Given the description of an element on the screen output the (x, y) to click on. 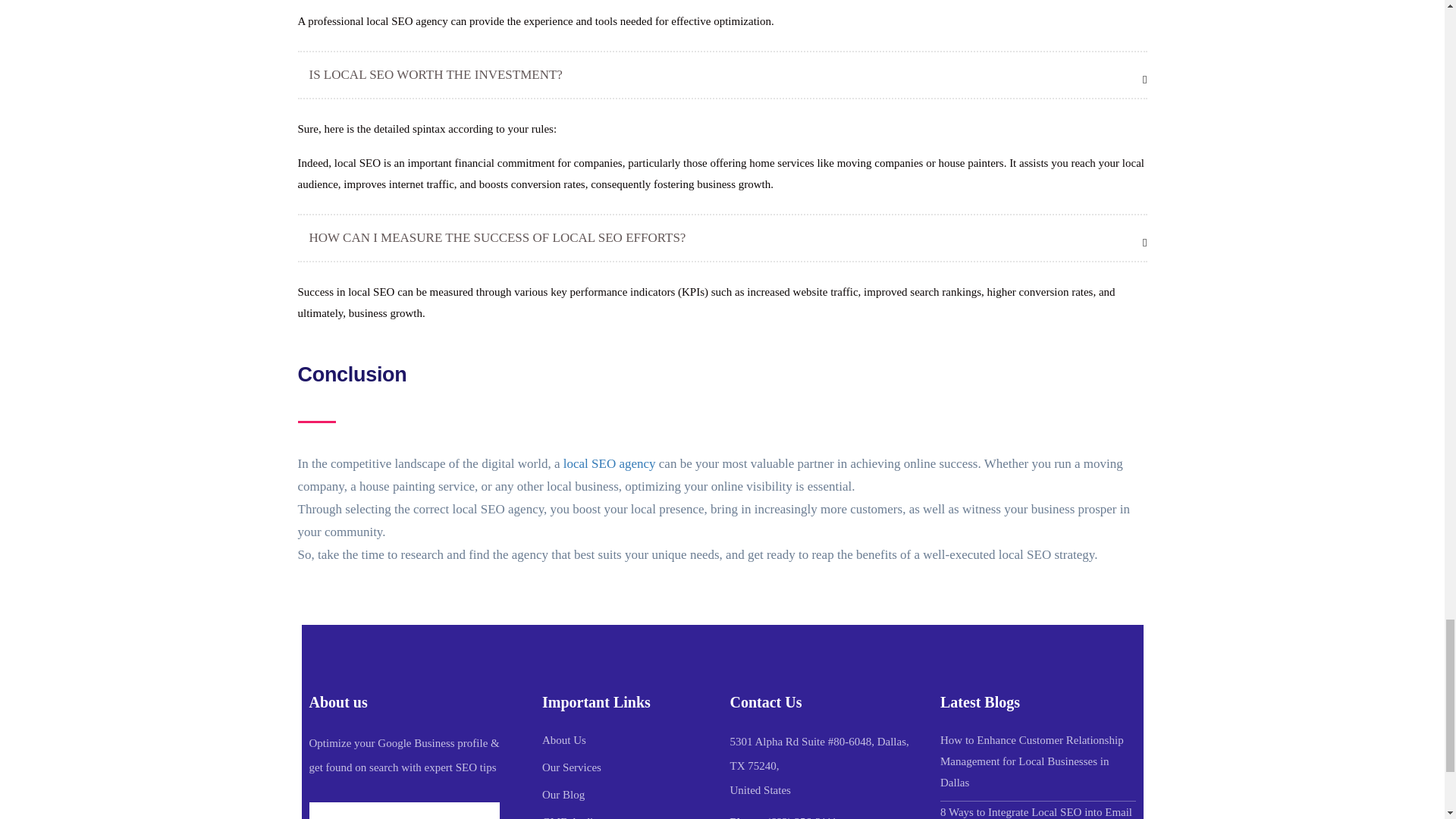
local SEO agency (609, 463)
About Us (563, 740)
Our Blog (563, 794)
GMB Audit (568, 815)
Our Services (571, 767)
